Given the description of an element on the screen output the (x, y) to click on. 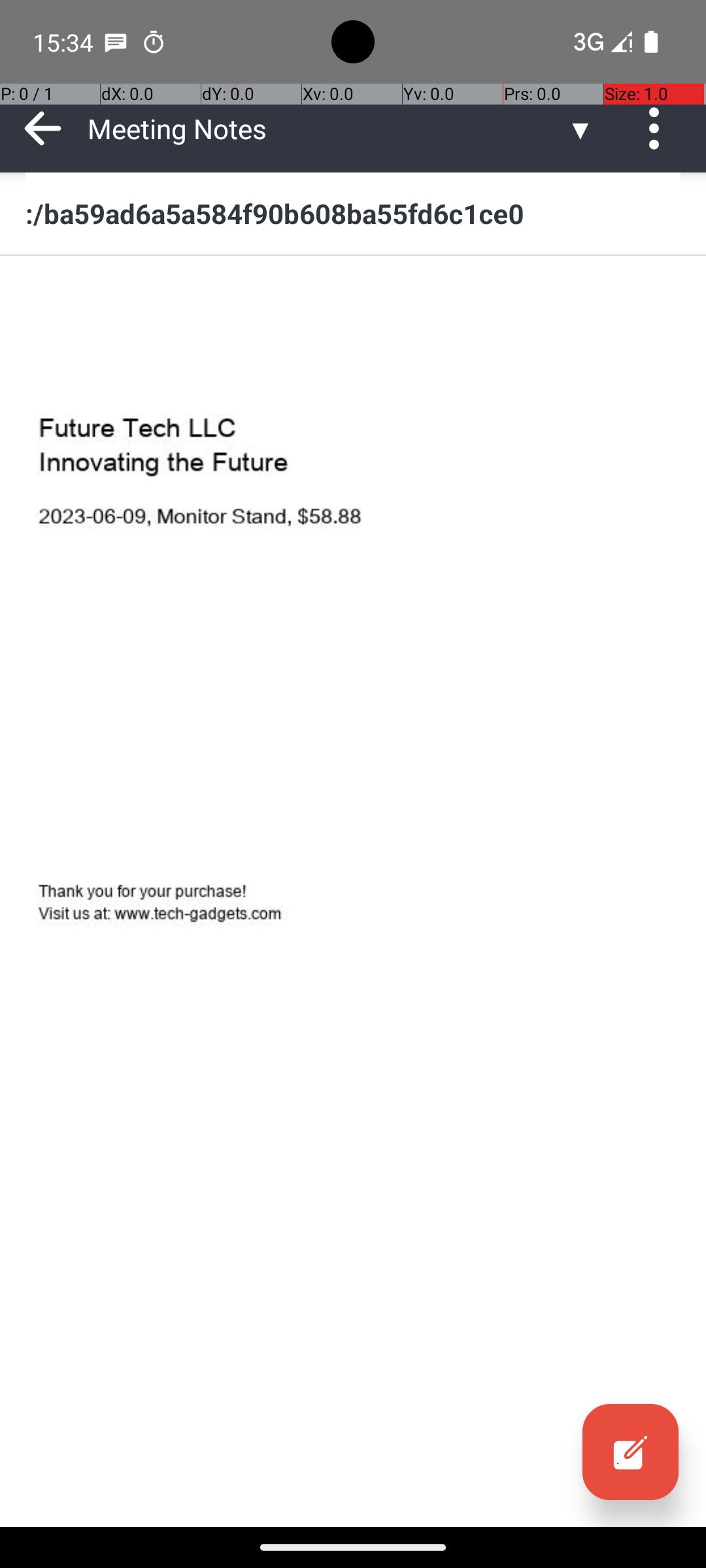
:/ba59ad6a5a584f90b608ba55fd6c1ce0 Element type: android.widget.EditText (352, 213)
